Given the description of an element on the screen output the (x, y) to click on. 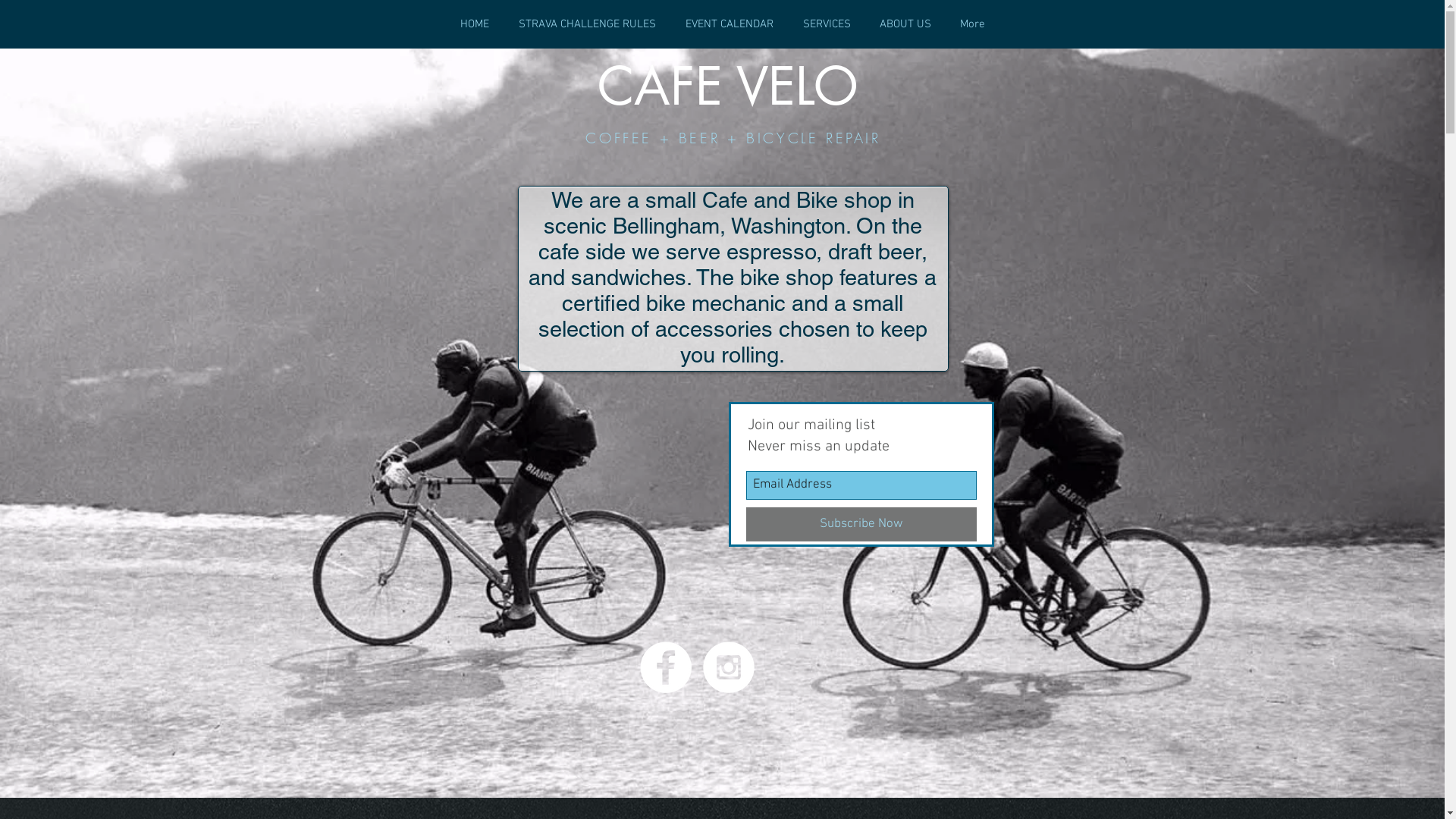
HOME Element type: text (474, 24)
Subscribe Now Element type: text (861, 524)
EVENT CALENDAR Element type: text (728, 24)
SERVICES Element type: text (826, 24)
ABOUT US Element type: text (904, 24)
Google Maps Element type: hover (527, 478)
CAFE VELO Element type: text (727, 86)
STRAVA CHALLENGE RULES Element type: text (586, 24)
